Given the description of an element on the screen output the (x, y) to click on. 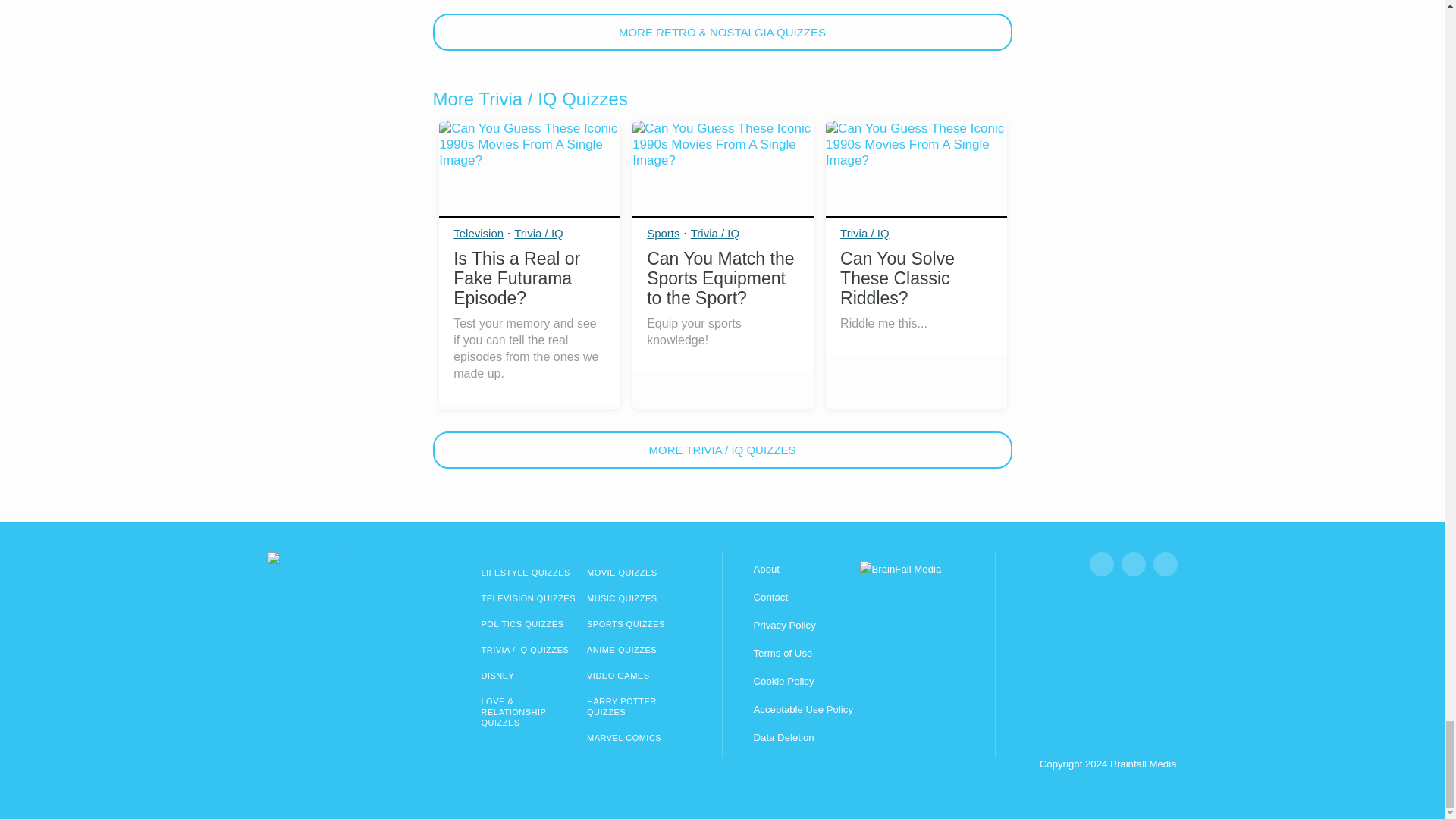
Like us on Facebook! (1101, 564)
Follow us on Twitter! (1164, 564)
Follow us on Instagram! (1132, 564)
